Given the description of an element on the screen output the (x, y) to click on. 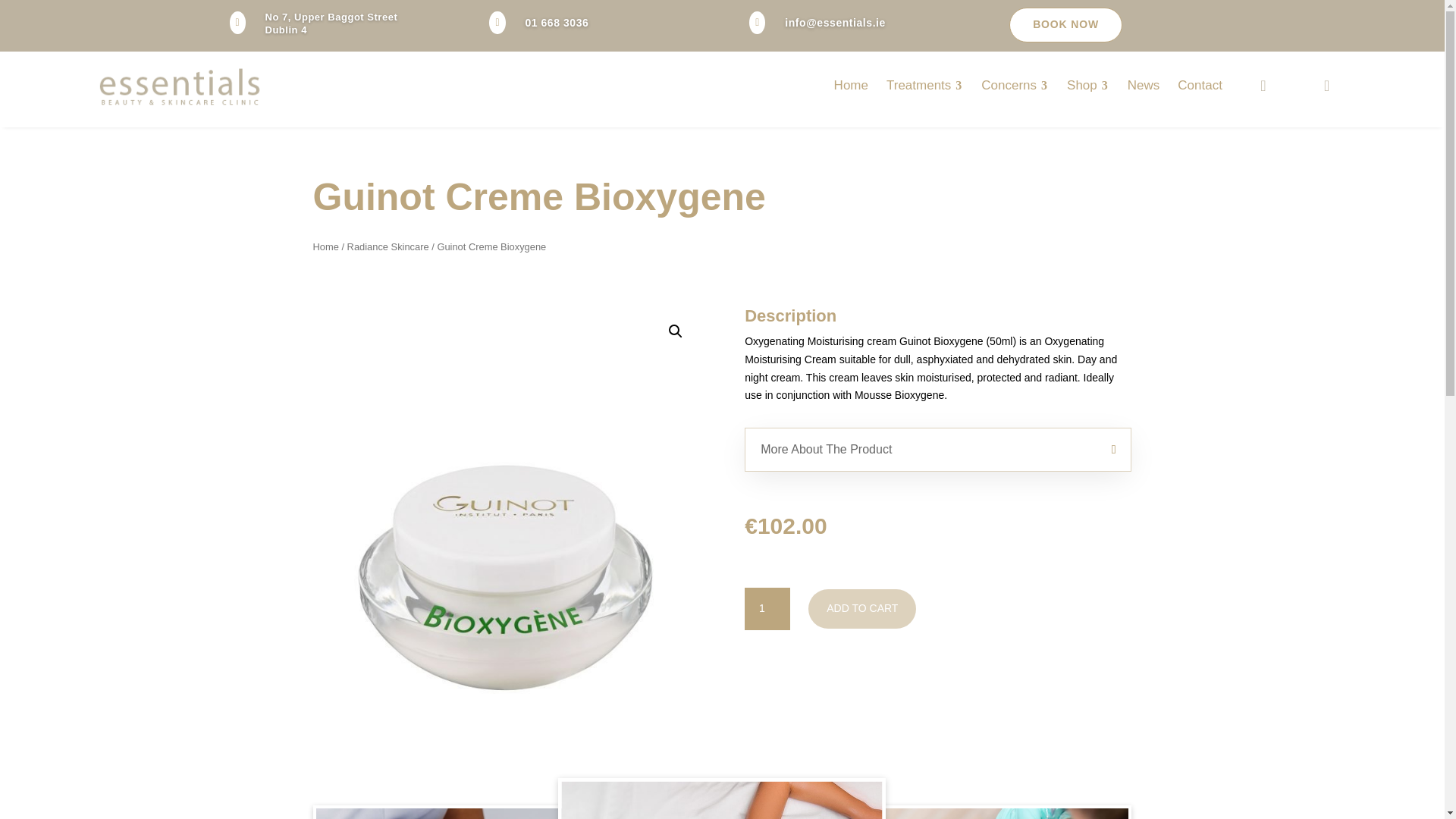
1 (767, 608)
Dublin 4 (285, 30)
No 7, Upper Baggot Street (330, 16)
Contact (1200, 85)
Home (851, 85)
01 668 3036 (556, 22)
Concerns (1015, 85)
Treatments (924, 85)
News (1143, 85)
BOOK NOW (1065, 24)
Shop (1088, 85)
